Given the description of an element on the screen output the (x, y) to click on. 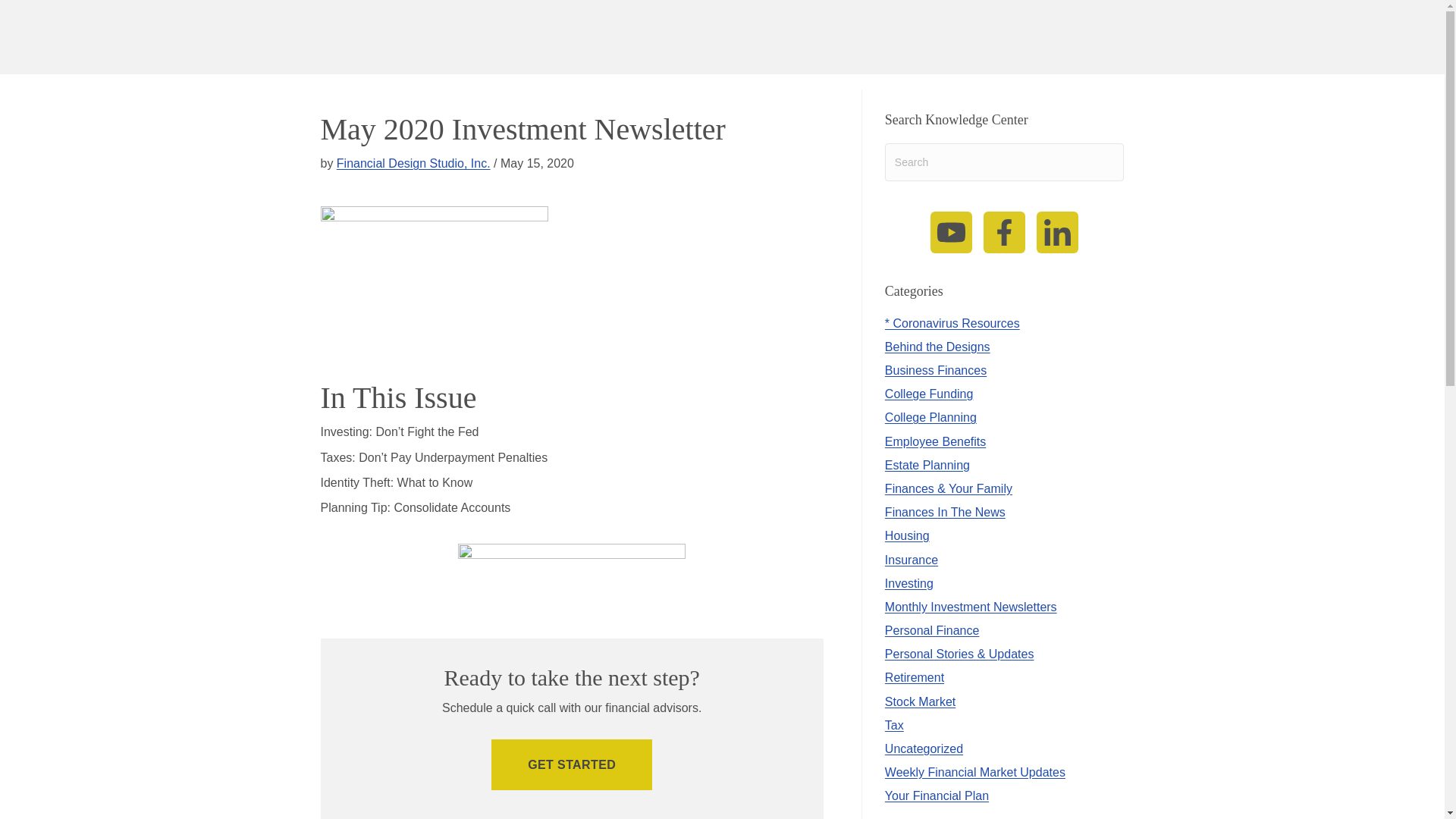
View our YouTube Channel (951, 231)
Finances In The News (945, 512)
College Funding (929, 393)
Estate Planning (927, 464)
Investing (909, 583)
Personal Finance (932, 630)
Type and press Enter to search. (1004, 161)
Follow us on Facebook (1004, 231)
Business Finances (936, 369)
Stock Market (920, 701)
